Given the description of an element on the screen output the (x, y) to click on. 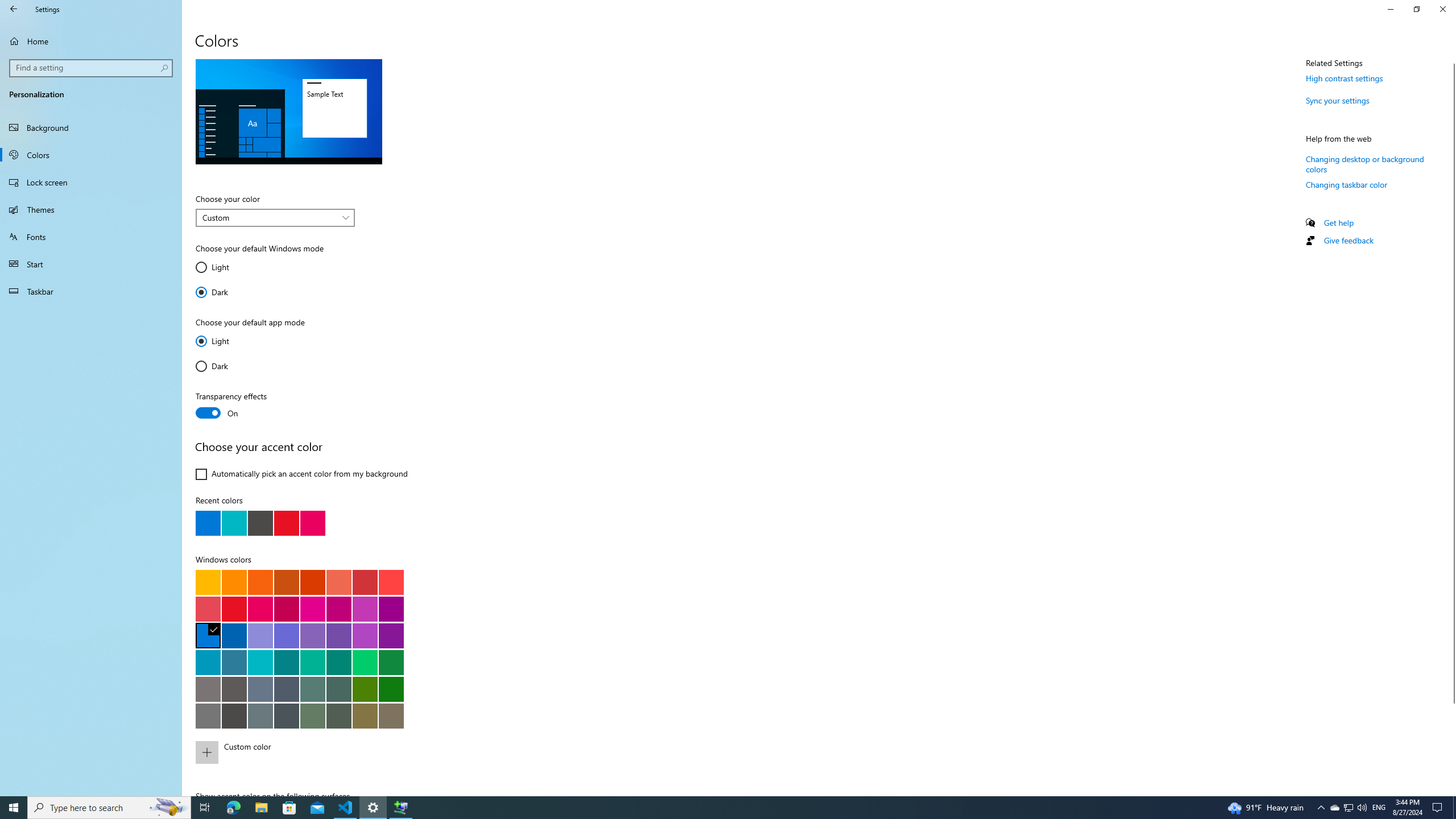
Steel blue (260, 688)
Storm (234, 715)
Meadow green (364, 688)
Orchid light (364, 608)
Gray brown (234, 688)
Seafoam (260, 661)
Cool blue bright (208, 661)
